Given the description of an element on the screen output the (x, y) to click on. 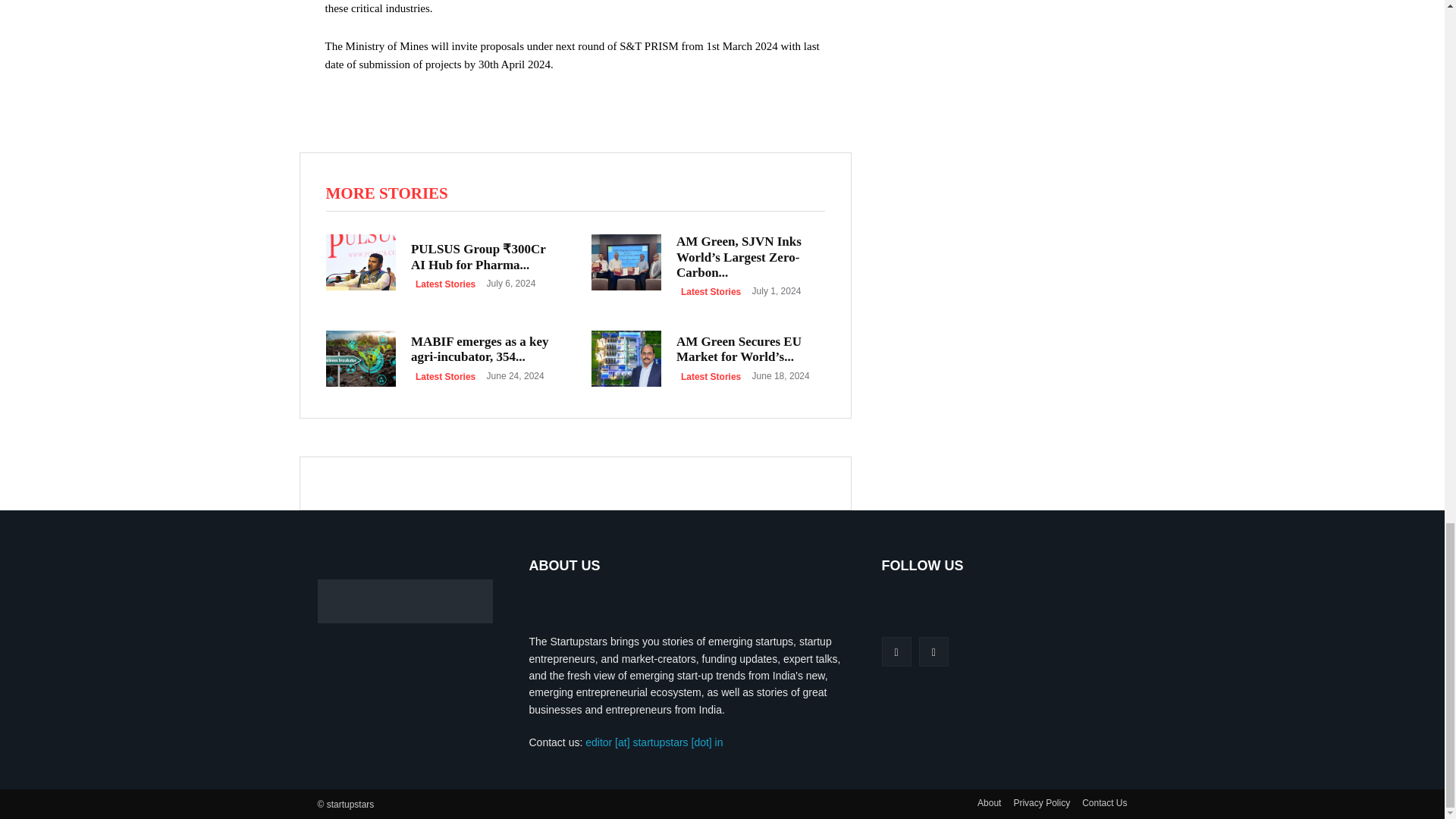
Latest Stories (445, 377)
Latest Stories (711, 291)
Latest Stories (711, 377)
Latest Stories (445, 284)
MABIF emerges as a key agri-incubator, 354... (479, 348)
